Given the description of an element on the screen output the (x, y) to click on. 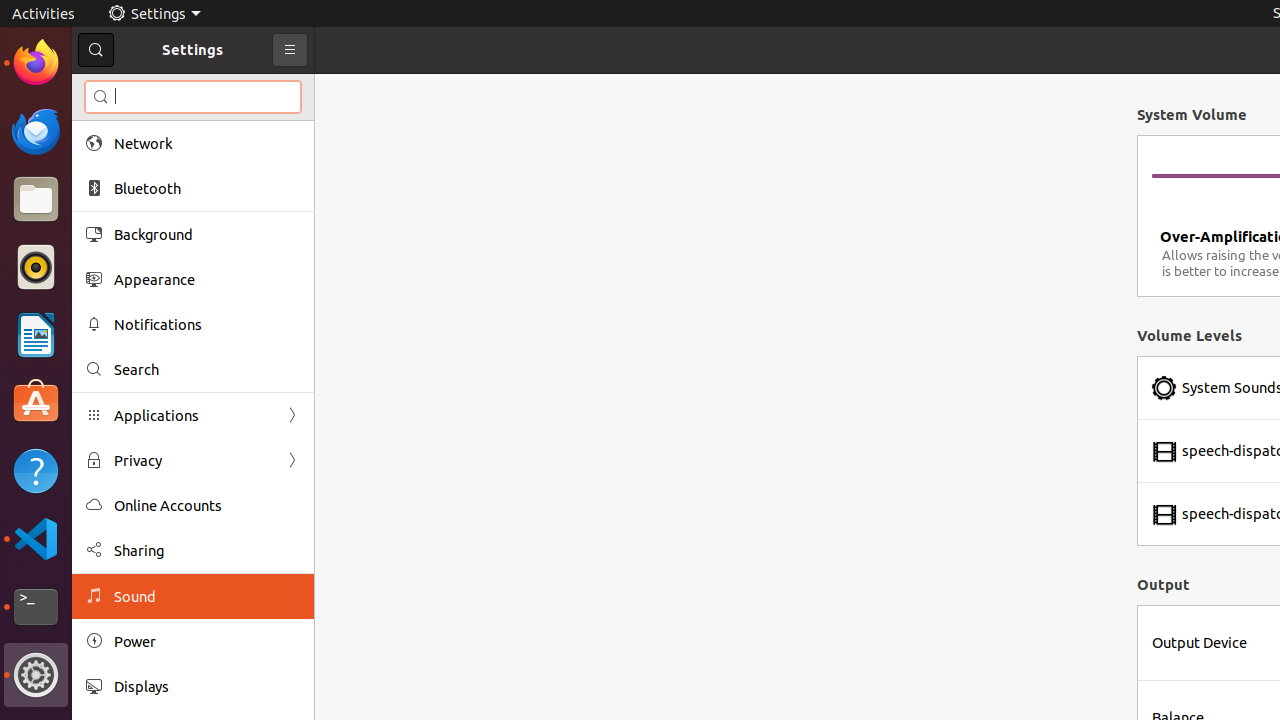
Online Accounts Element type: label (207, 505)
Displays Element type: label (207, 686)
Trash Element type: label (133, 191)
Primary Menu Element type: toggle-button (290, 50)
Terminal Element type: push-button (36, 607)
